Given the description of an element on the screen output the (x, y) to click on. 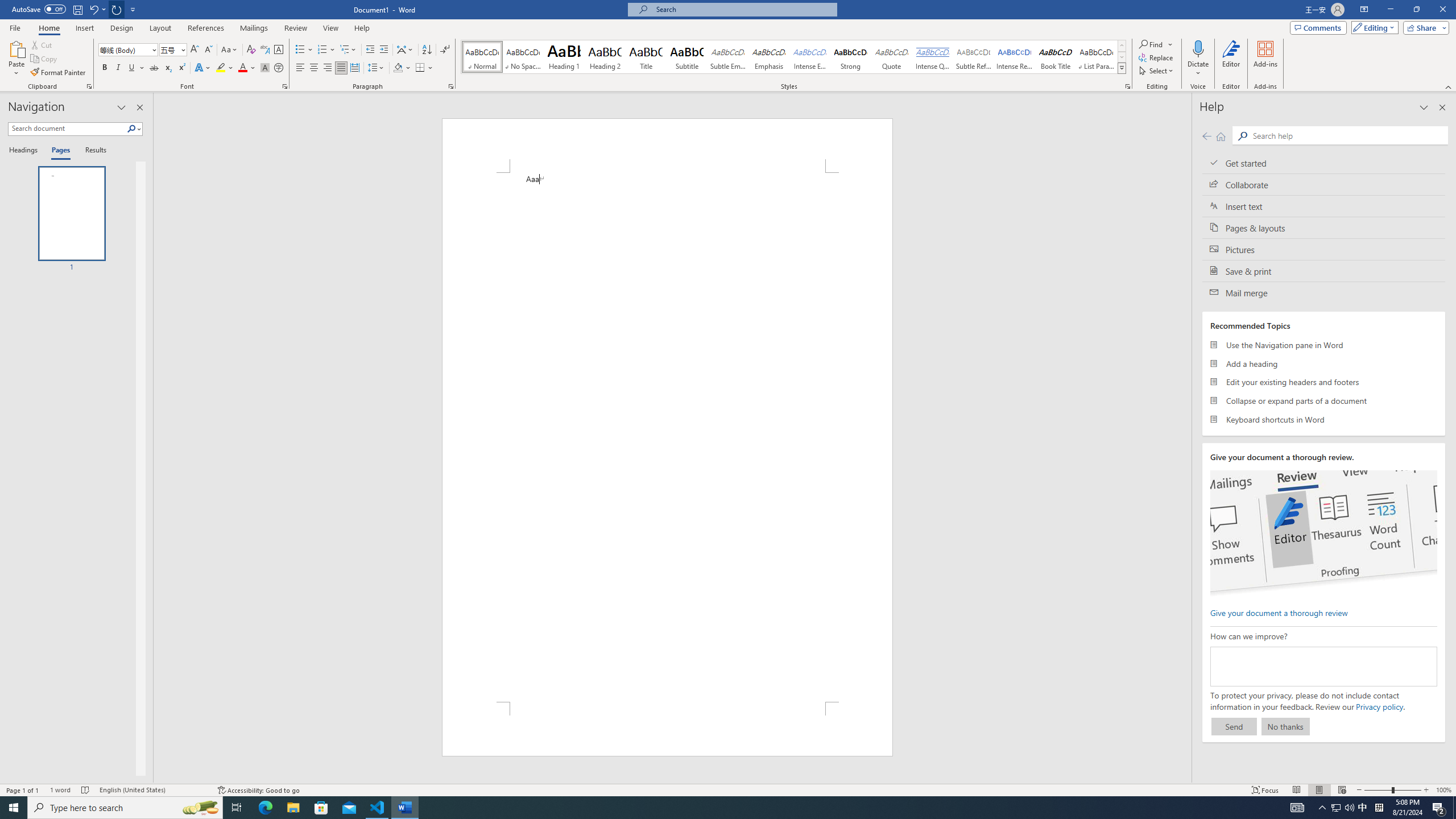
Spelling and Grammar Check No Errors (85, 790)
Book Title (1055, 56)
Privacy policy (1379, 706)
